Given the description of an element on the screen output the (x, y) to click on. 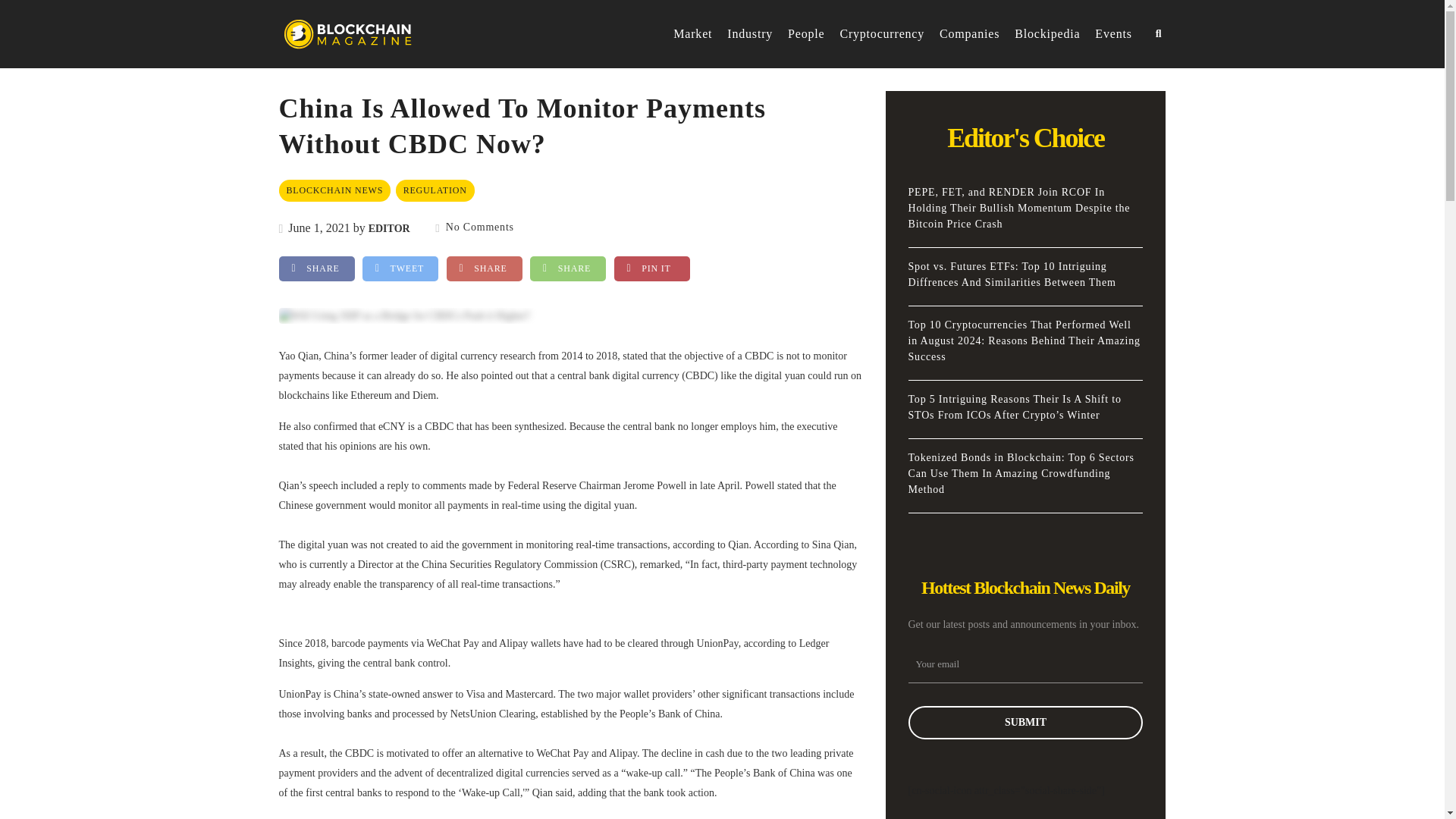
Companies (968, 34)
Market (691, 34)
TWEET (400, 268)
Industry (749, 34)
No Comments (474, 226)
Will Using XRP as a Bridge for CBDCs Push it Higher? (404, 315)
Regulation (435, 190)
Events (1112, 34)
SHARE (317, 268)
Blockchain News (335, 190)
